Given the description of an element on the screen output the (x, y) to click on. 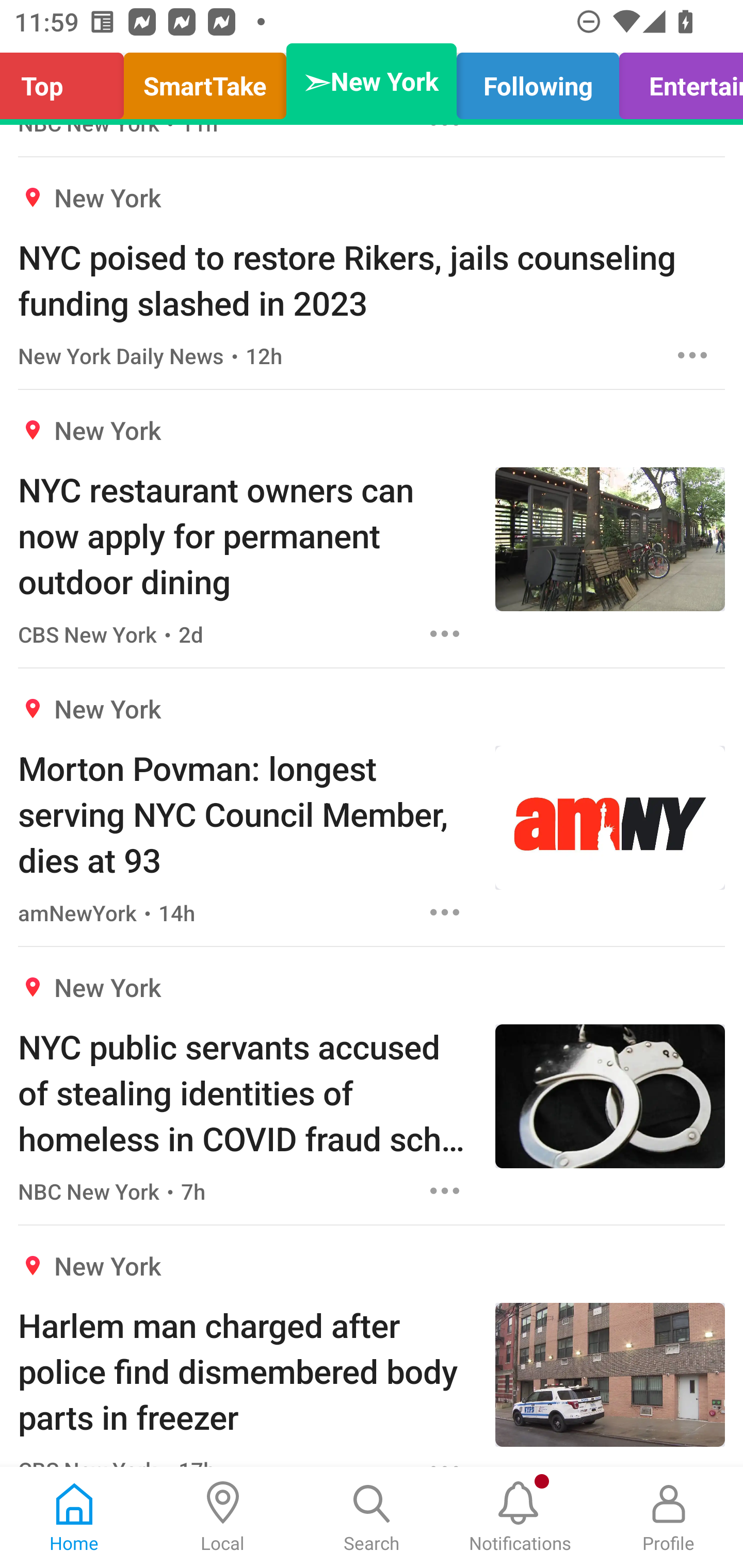
Top (67, 81)
SmartTake (204, 81)
➣New York (371, 81)
Following (537, 81)
Options (692, 354)
Options (444, 633)
Options (444, 912)
Options (444, 1190)
Local (222, 1517)
Search (371, 1517)
Notifications, New notification Notifications (519, 1517)
Profile (668, 1517)
